Given the description of an element on the screen output the (x, y) to click on. 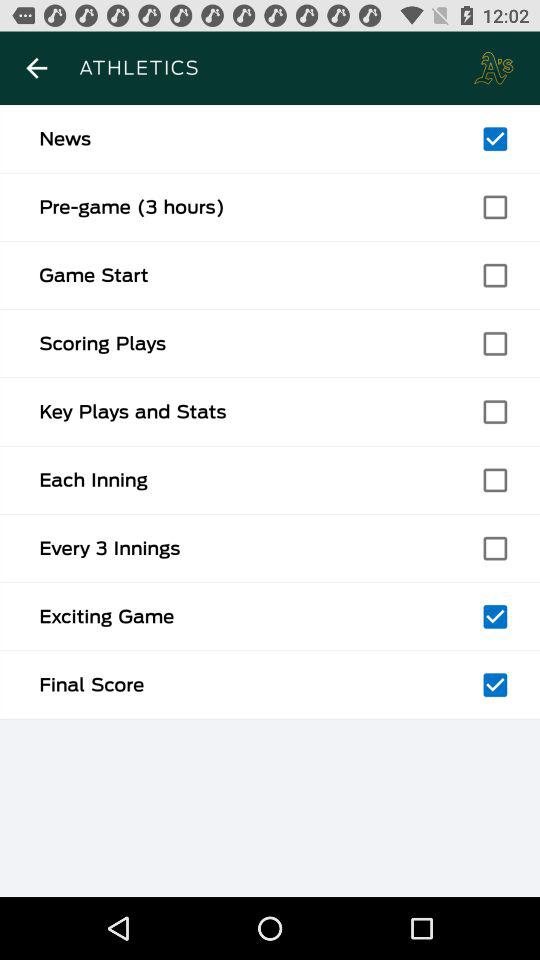
toggle to receive news (495, 139)
